Given the description of an element on the screen output the (x, y) to click on. 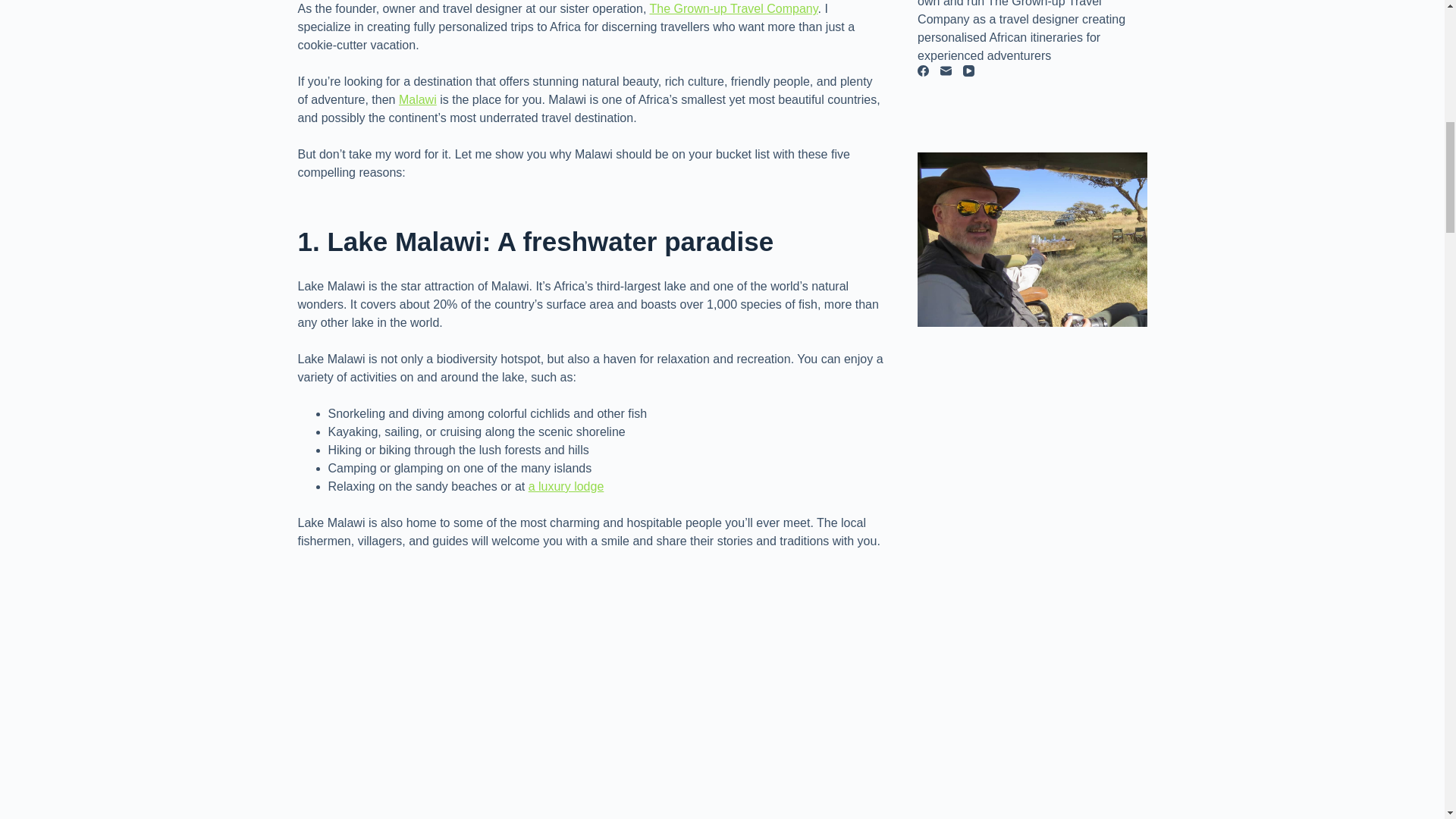
YouTube video player (509, 687)
